Given the description of an element on the screen output the (x, y) to click on. 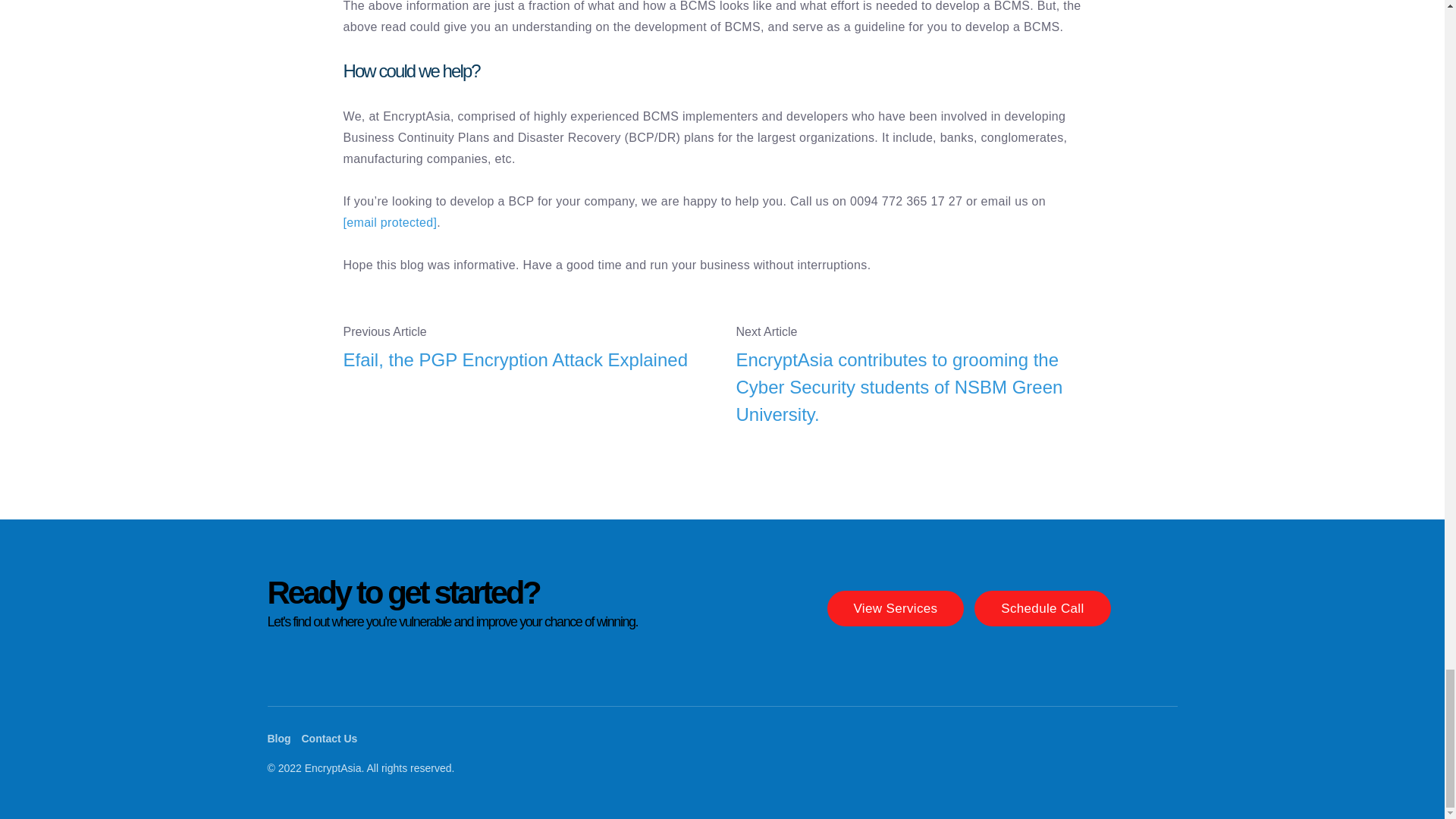
Blog (277, 738)
Efail, the PGP Encryption Attack Explained (524, 359)
Schedule Call (1041, 608)
View Services (895, 608)
Contact Us (329, 738)
